Given the description of an element on the screen output the (x, y) to click on. 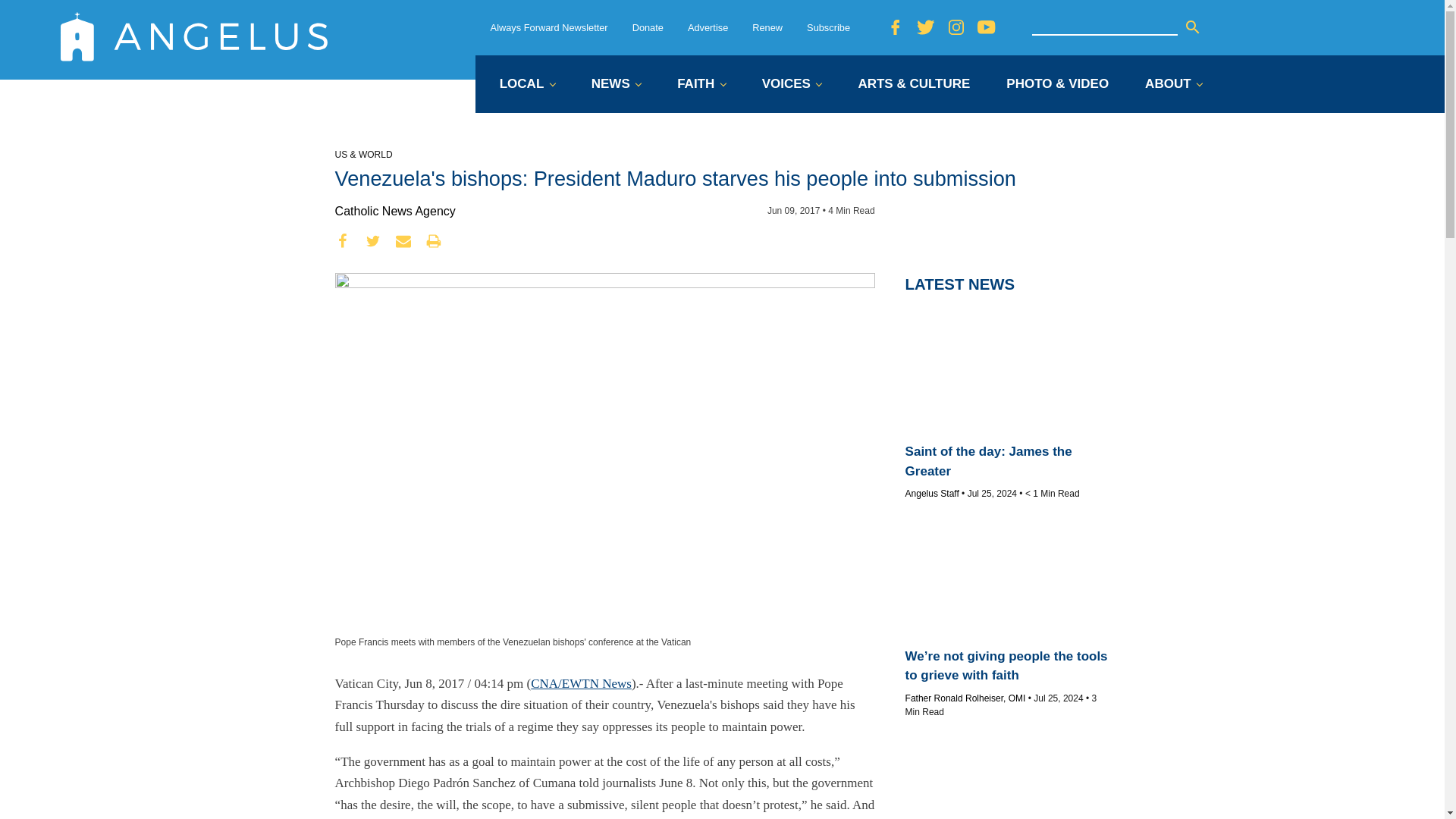
print (433, 240)
Always Forward Newsletter (549, 27)
VOICES (791, 84)
Posts by Catholic News Agency (394, 210)
LOCAL (526, 84)
Renew (767, 27)
Posts by Father Ronald Rolheiser, OMI (965, 697)
Posts by Angelus Staff (932, 493)
FAITH (701, 84)
ABOUT (1173, 84)
facebook (342, 240)
Subscribe (828, 27)
Donate (647, 27)
Advertise (707, 27)
Search (1192, 27)
